Given the description of an element on the screen output the (x, y) to click on. 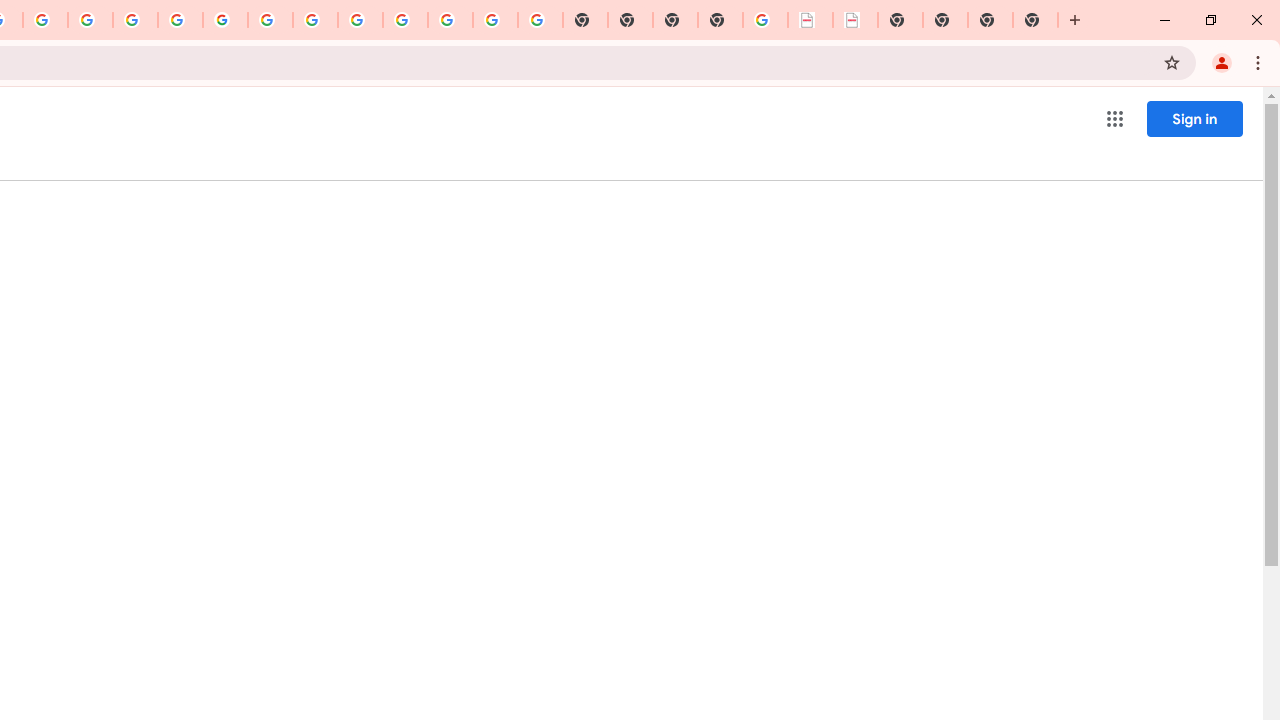
New Tab (1035, 20)
BAE Systems Brasil | BAE Systems (855, 20)
New Tab (720, 20)
